Given the description of an element on the screen output the (x, y) to click on. 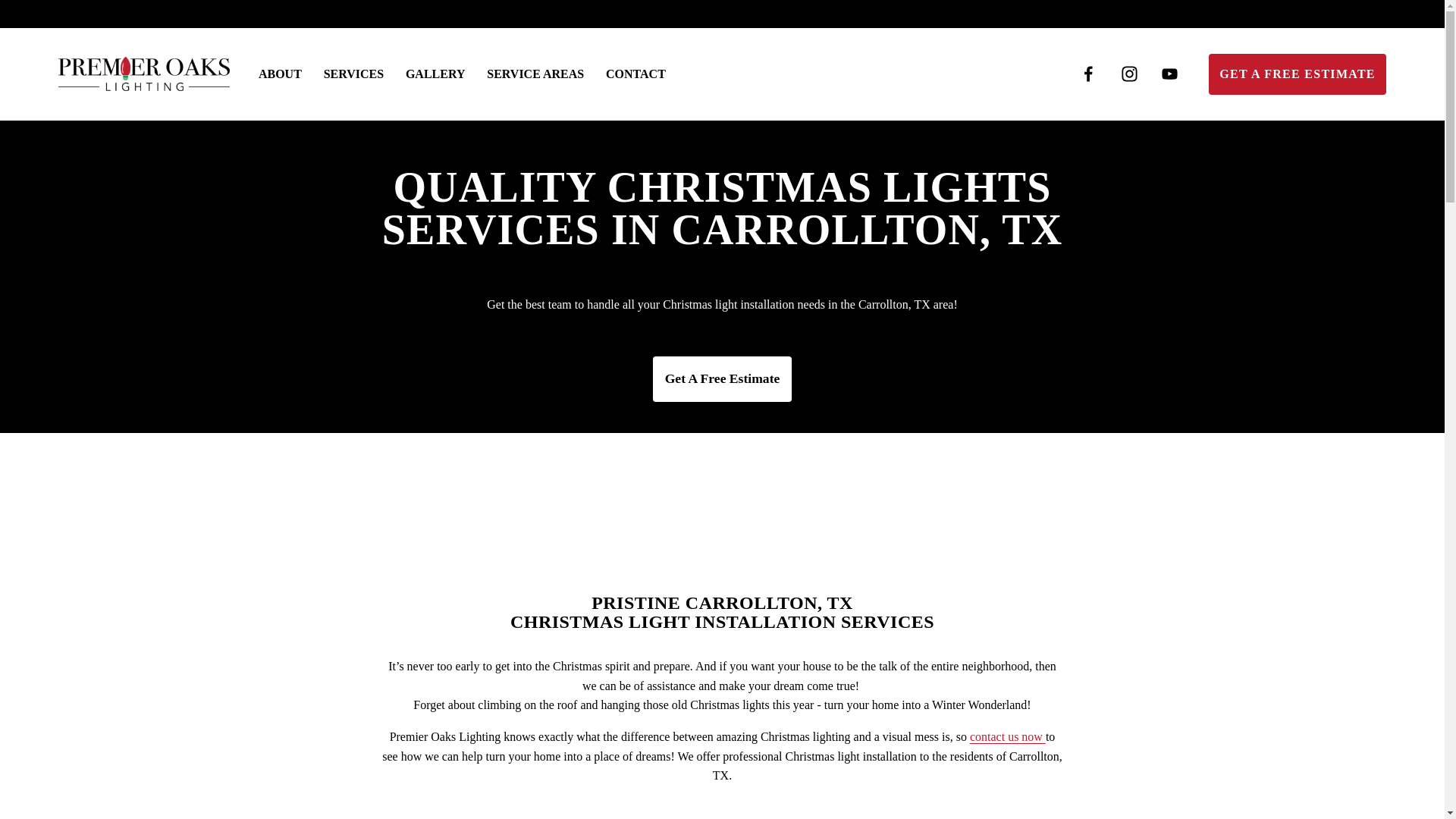
SERVICES (353, 74)
CONTACT (635, 74)
ABOUT (280, 74)
GALLERY (435, 74)
GET A FREE ESTIMATE (1297, 74)
SERVICE AREAS (534, 74)
